Given the description of an element on the screen output the (x, y) to click on. 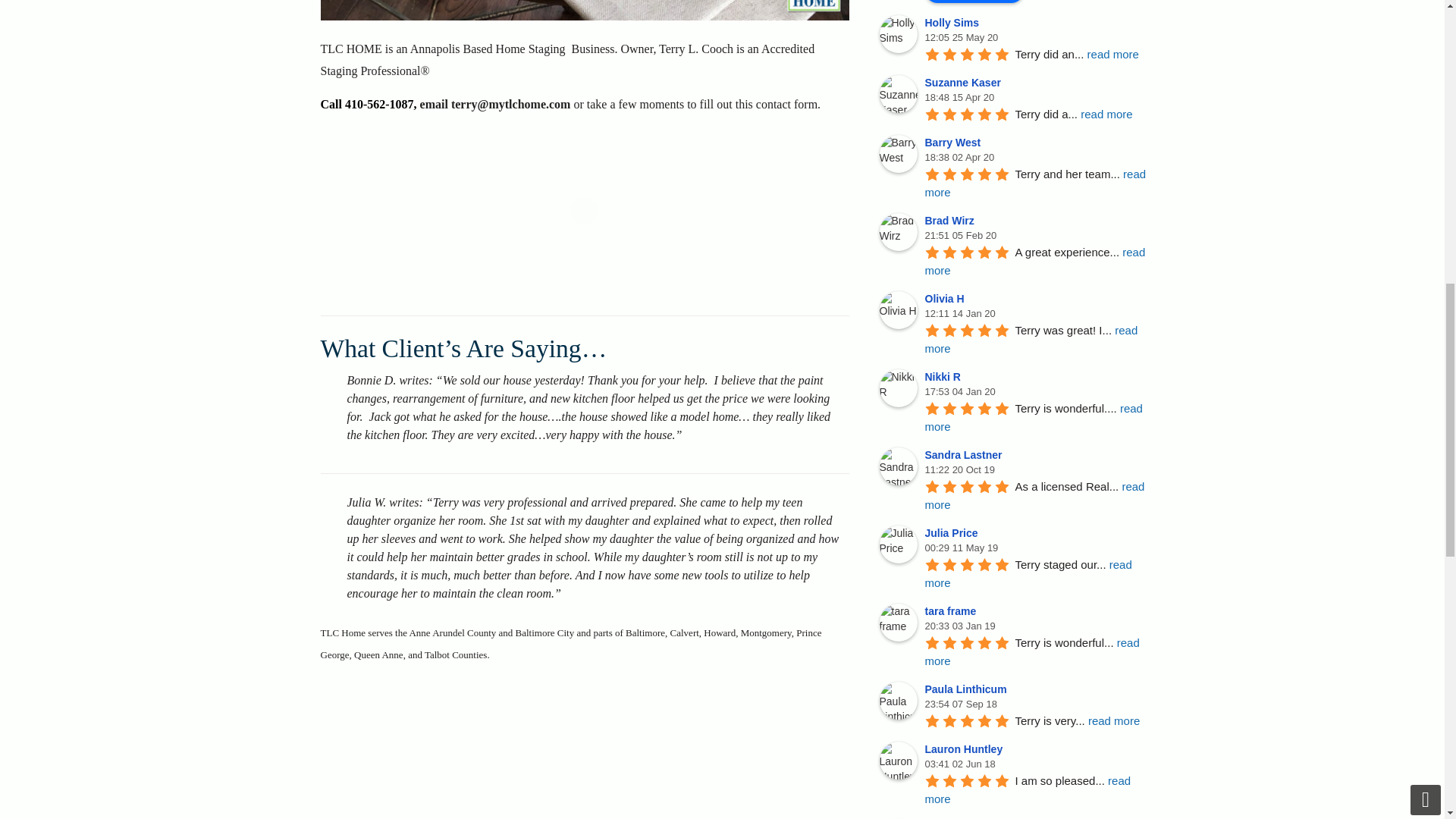
tara frame (952, 611)
Suzanne Kaser (965, 82)
Holly Sims (898, 34)
Julia Price (953, 532)
Paula Linthicum (967, 689)
Nikki R (944, 377)
Barry West (898, 153)
Brad Wirz (898, 231)
Suzanne Kaser (898, 94)
Barry West (954, 142)
